Given the description of an element on the screen output the (x, y) to click on. 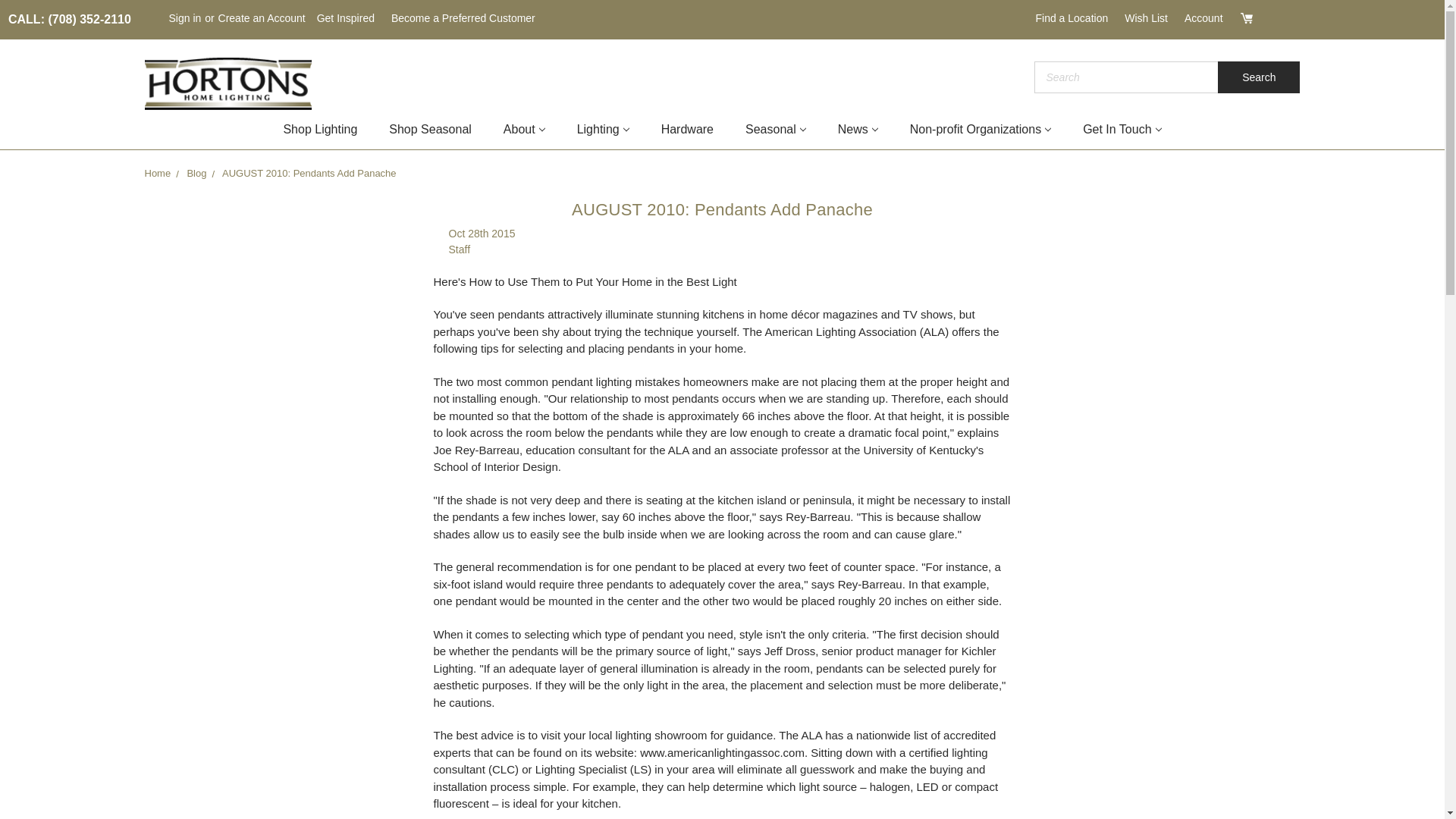
Create an Account (261, 18)
Get Inspired (345, 18)
Find a Location (1071, 18)
Become a Preferred Customer (462, 18)
Hortons Home Lighting (227, 83)
Search (1258, 77)
Account (1203, 18)
Wish List (1146, 18)
Sign in (184, 18)
